Given the description of an element on the screen output the (x, y) to click on. 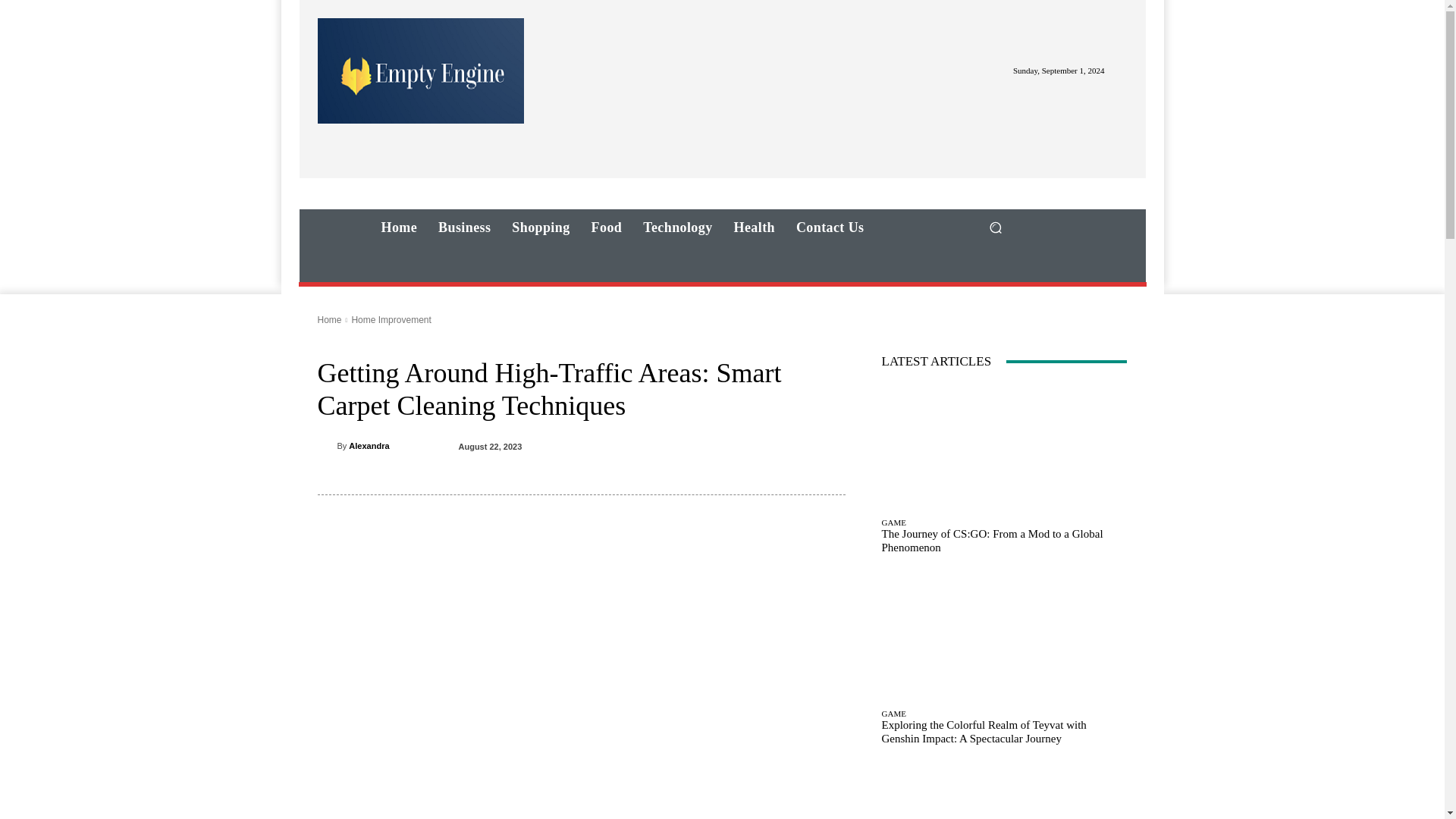
Health (754, 227)
Business (464, 227)
The Journey of CS:GO: From a Mod to a Global Phenomenon (1003, 446)
Home (328, 319)
Alexandra (368, 445)
Home (398, 227)
Home Improvement (390, 319)
Food (606, 227)
Alexandra (326, 445)
